Given the description of an element on the screen output the (x, y) to click on. 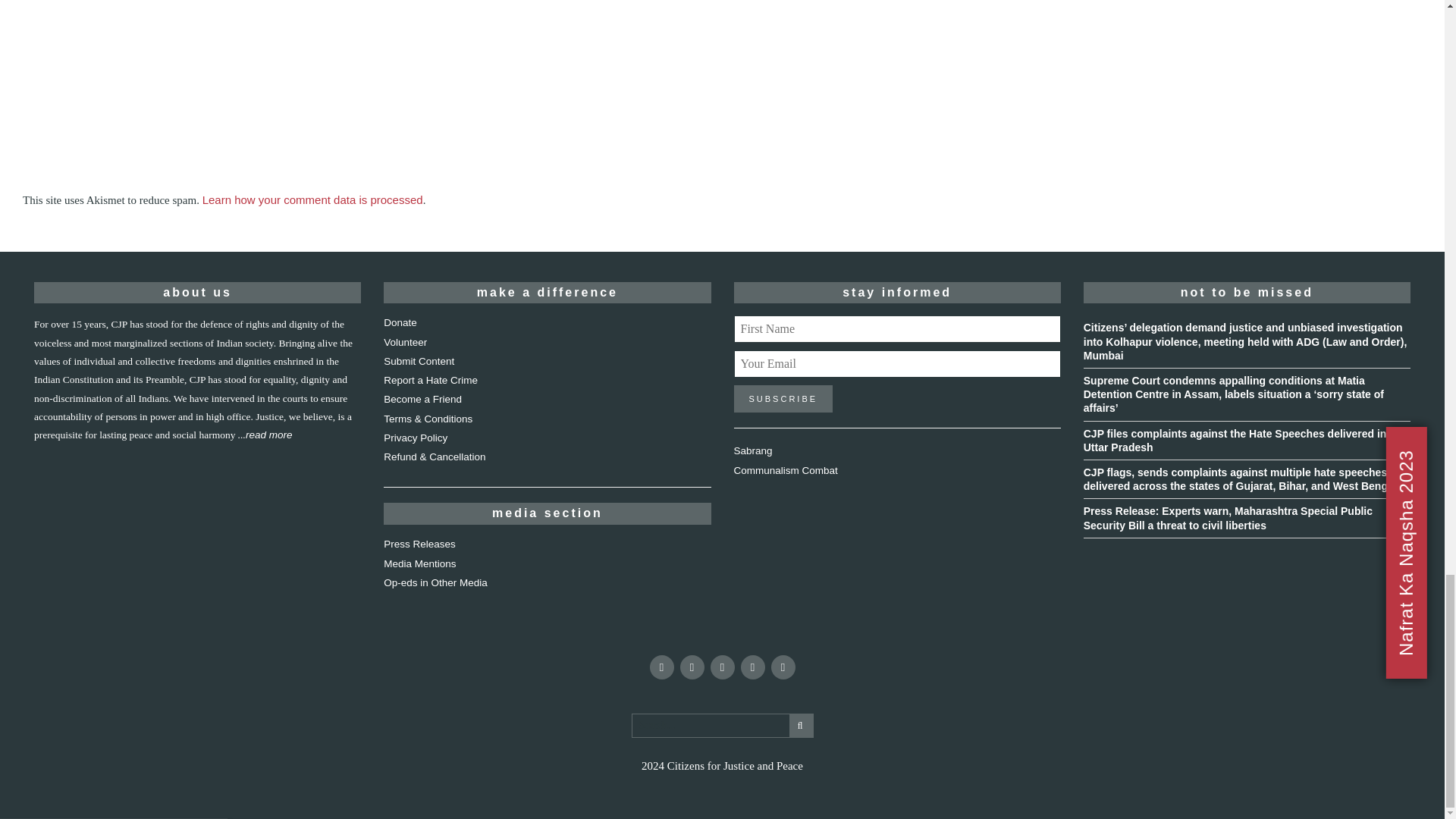
Subscribe (782, 398)
